Given the description of an element on the screen output the (x, y) to click on. 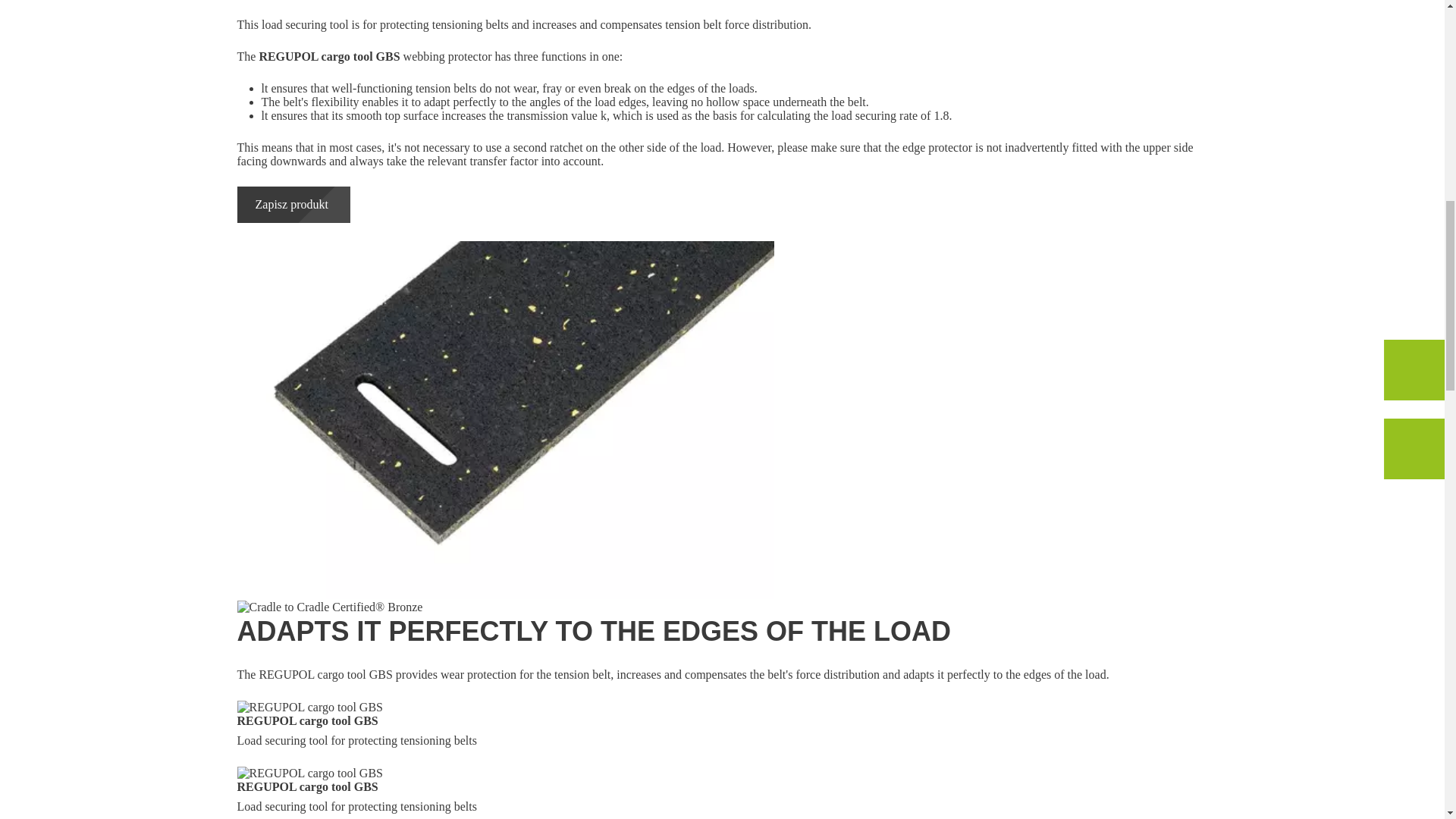
REGUPOL cargo tool GBS (308, 707)
REGUPOL cargo tool GBS (308, 773)
